Given the description of an element on the screen output the (x, y) to click on. 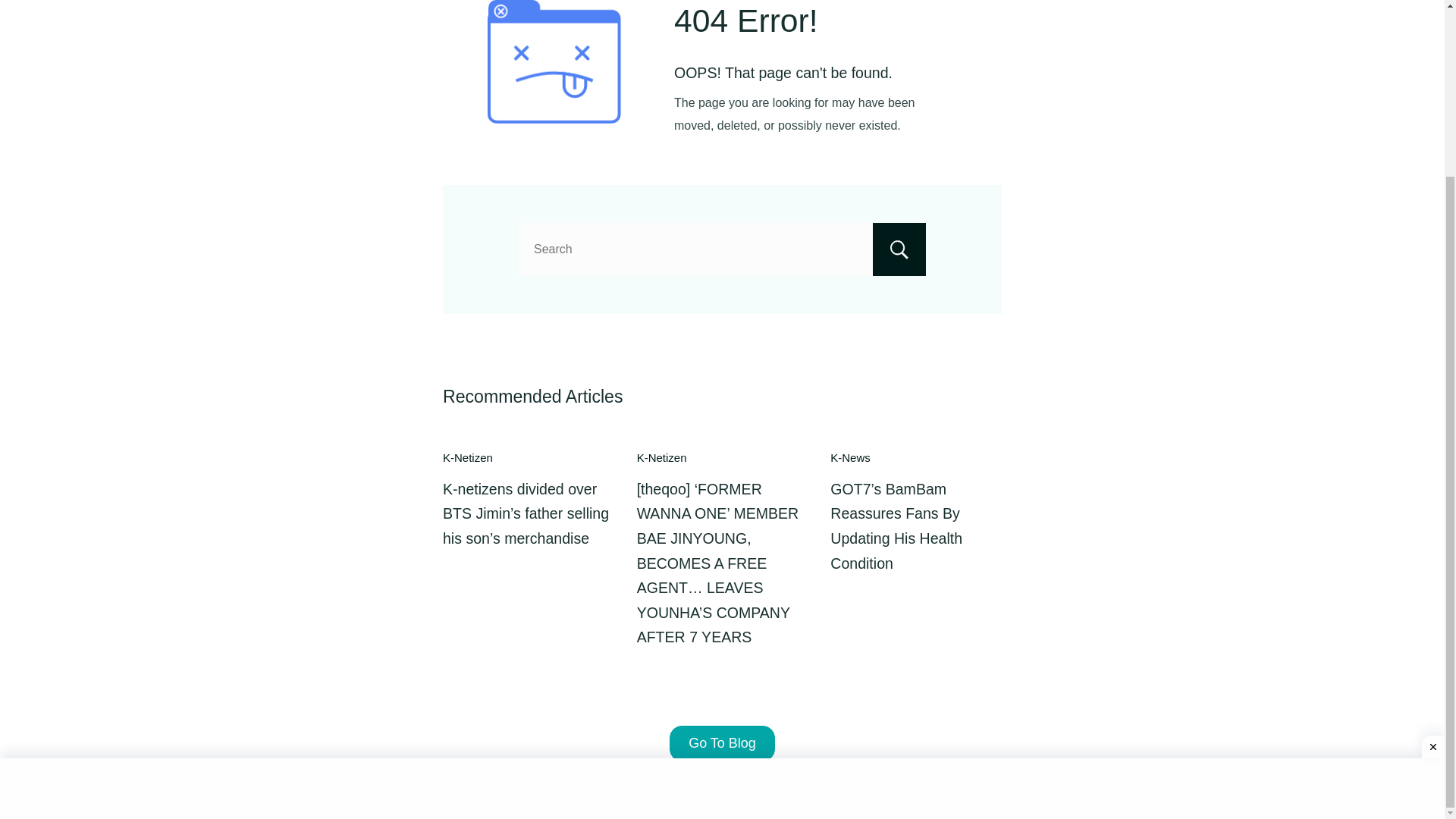
Search (899, 249)
Search Input (722, 249)
Advertisement (722, 573)
Search (899, 249)
